Given the description of an element on the screen output the (x, y) to click on. 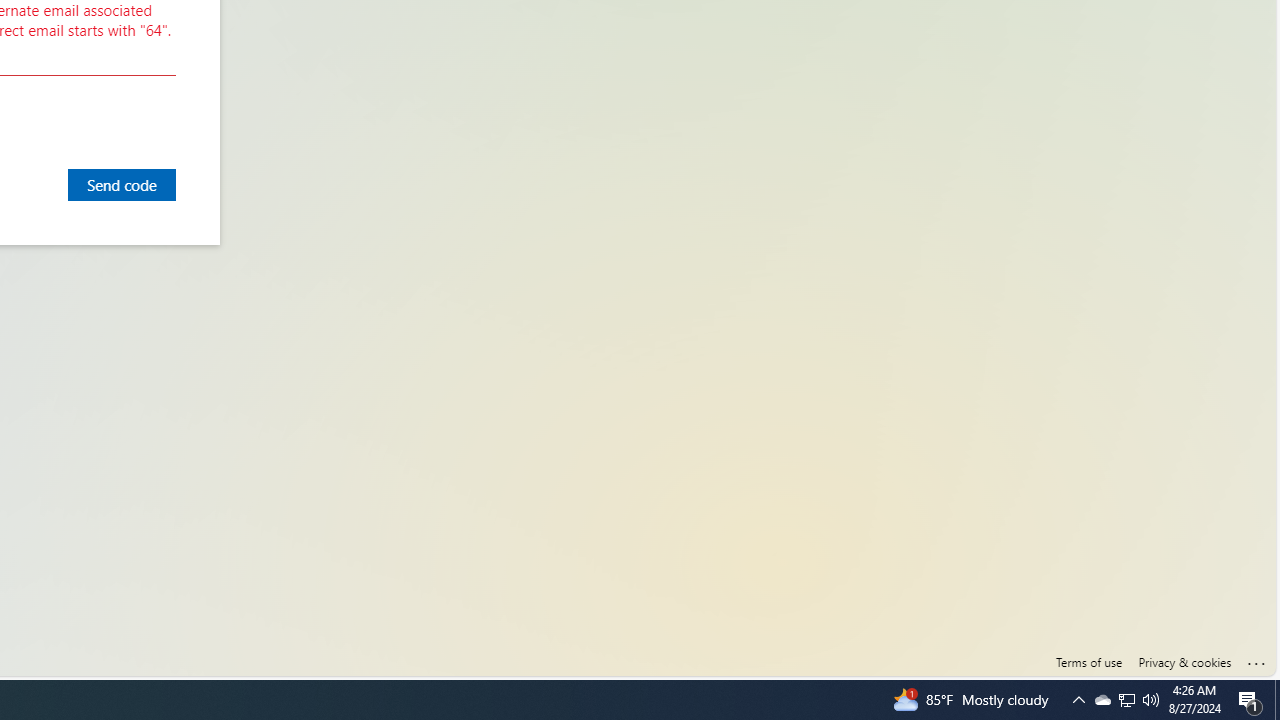
Privacy & cookies (1184, 662)
Click here for troubleshooting information (1257, 659)
Send code (121, 183)
